Given the description of an element on the screen output the (x, y) to click on. 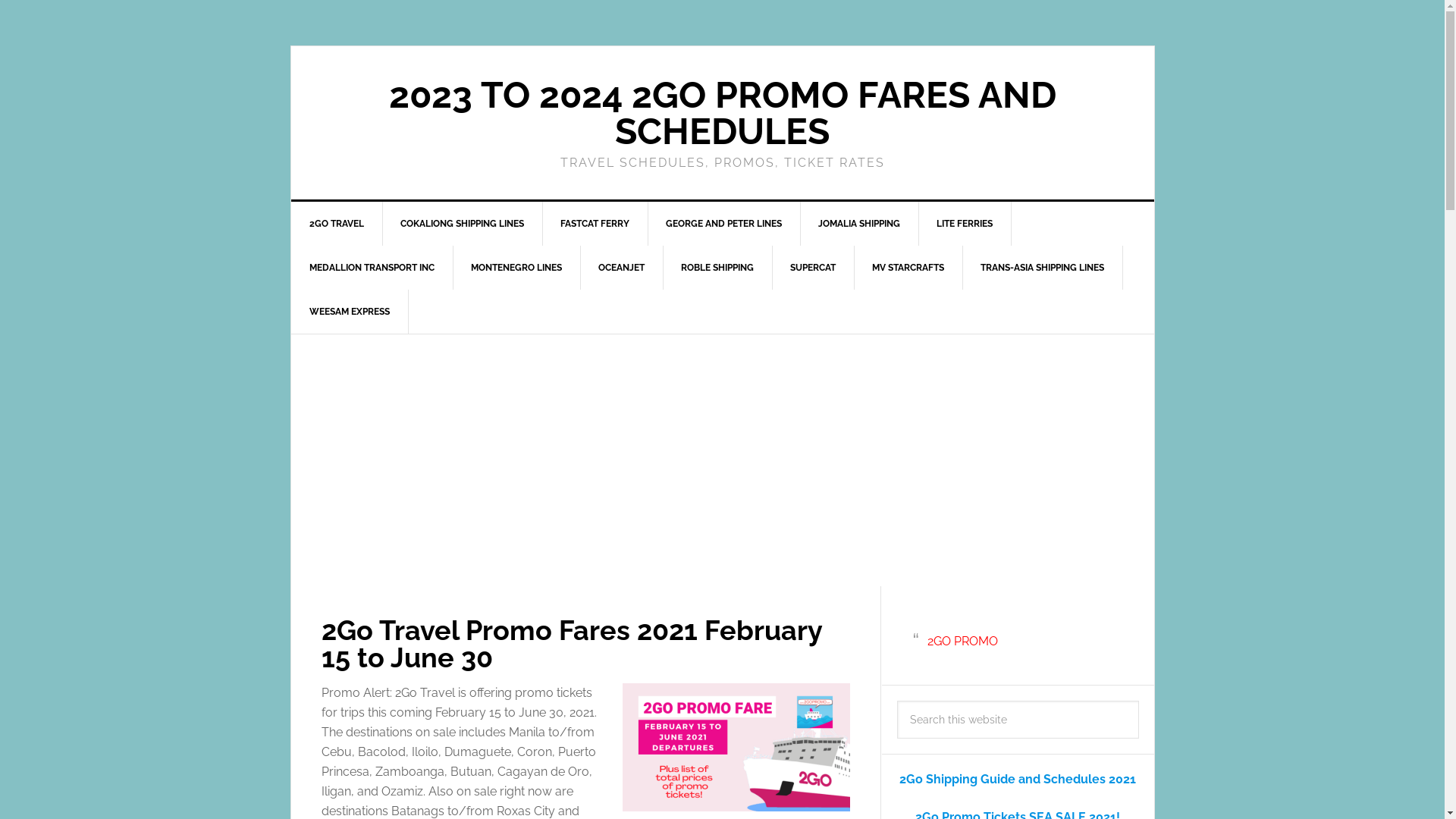
2Go Travel Promo Fares 2021 February 15 to June 30 Element type: text (571, 643)
ROBLE SHIPPING Element type: text (717, 267)
2Go Shipping Guide and Schedules 2021 Element type: text (1017, 778)
Search Element type: text (1137, 699)
COKALIONG SHIPPING LINES Element type: text (462, 223)
LITE FERRIES Element type: text (963, 223)
MONTENEGRO LINES Element type: text (515, 267)
MV STARCRAFTS Element type: text (908, 267)
JOMALIA SHIPPING Element type: text (858, 223)
MEDALLION TRANSPORT INC Element type: text (372, 267)
TRANS-ASIA SHIPPING LINES Element type: text (1041, 267)
2023 TO 2024 2GO PROMO FARES AND SCHEDULES Element type: text (721, 112)
Advertisement Element type: hover (722, 460)
WEESAM EXPRESS Element type: text (349, 311)
2GO TRAVEL Element type: text (336, 223)
FASTCAT FERRY Element type: text (594, 223)
OCEANJET Element type: text (620, 267)
2GO PROMO Element type: text (961, 640)
GEORGE AND PETER LINES Element type: text (723, 223)
SUPERCAT Element type: text (812, 267)
